Given the description of an element on the screen output the (x, y) to click on. 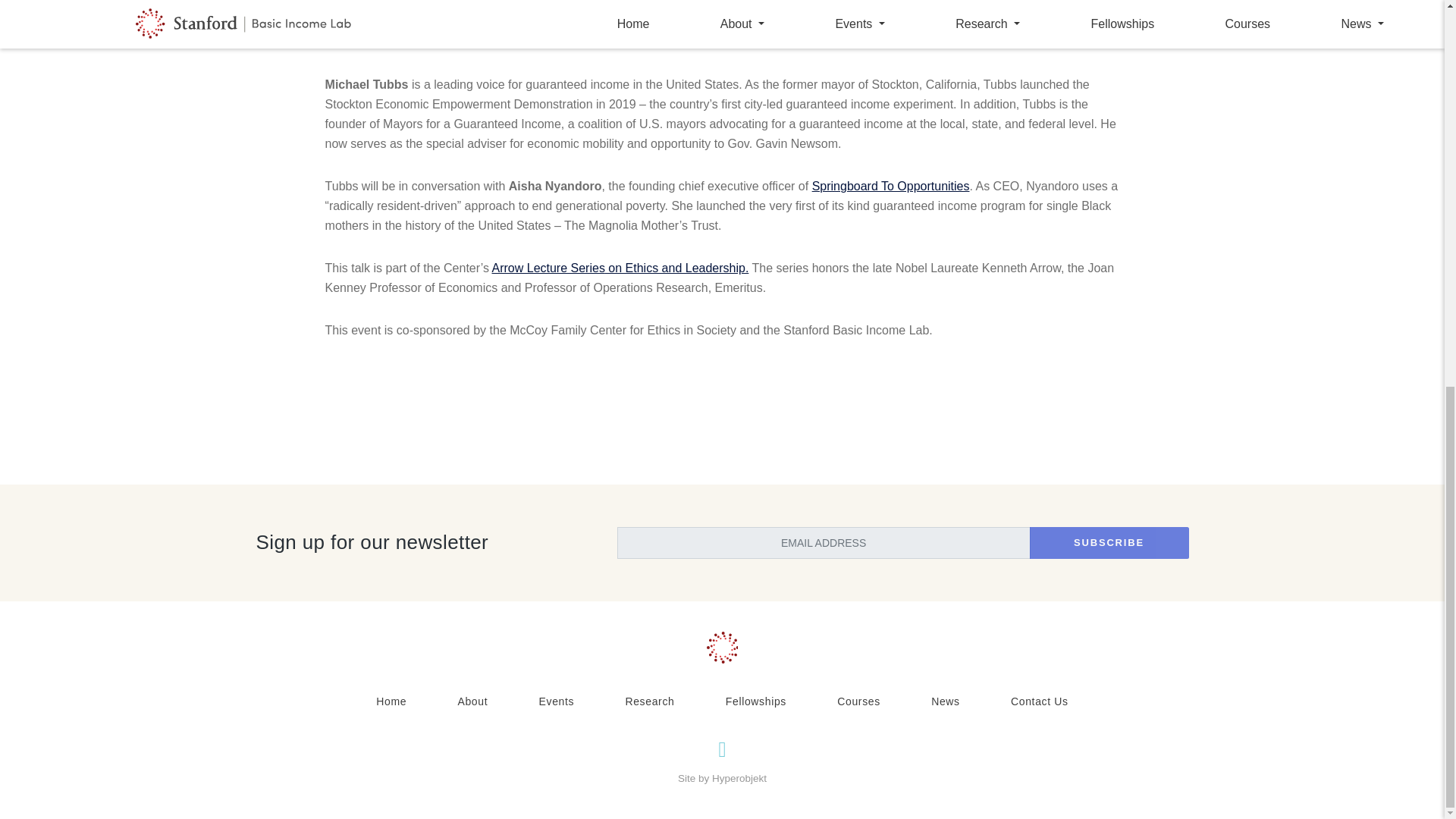
Hyperobjekt (739, 778)
Research (649, 701)
Home (390, 701)
Springboard To Opportunities (890, 185)
here (598, 42)
SUBSCRIBE (1109, 542)
Events (556, 701)
News (945, 701)
About (472, 701)
Arrow Lecture Series (548, 267)
